Given the description of an element on the screen output the (x, y) to click on. 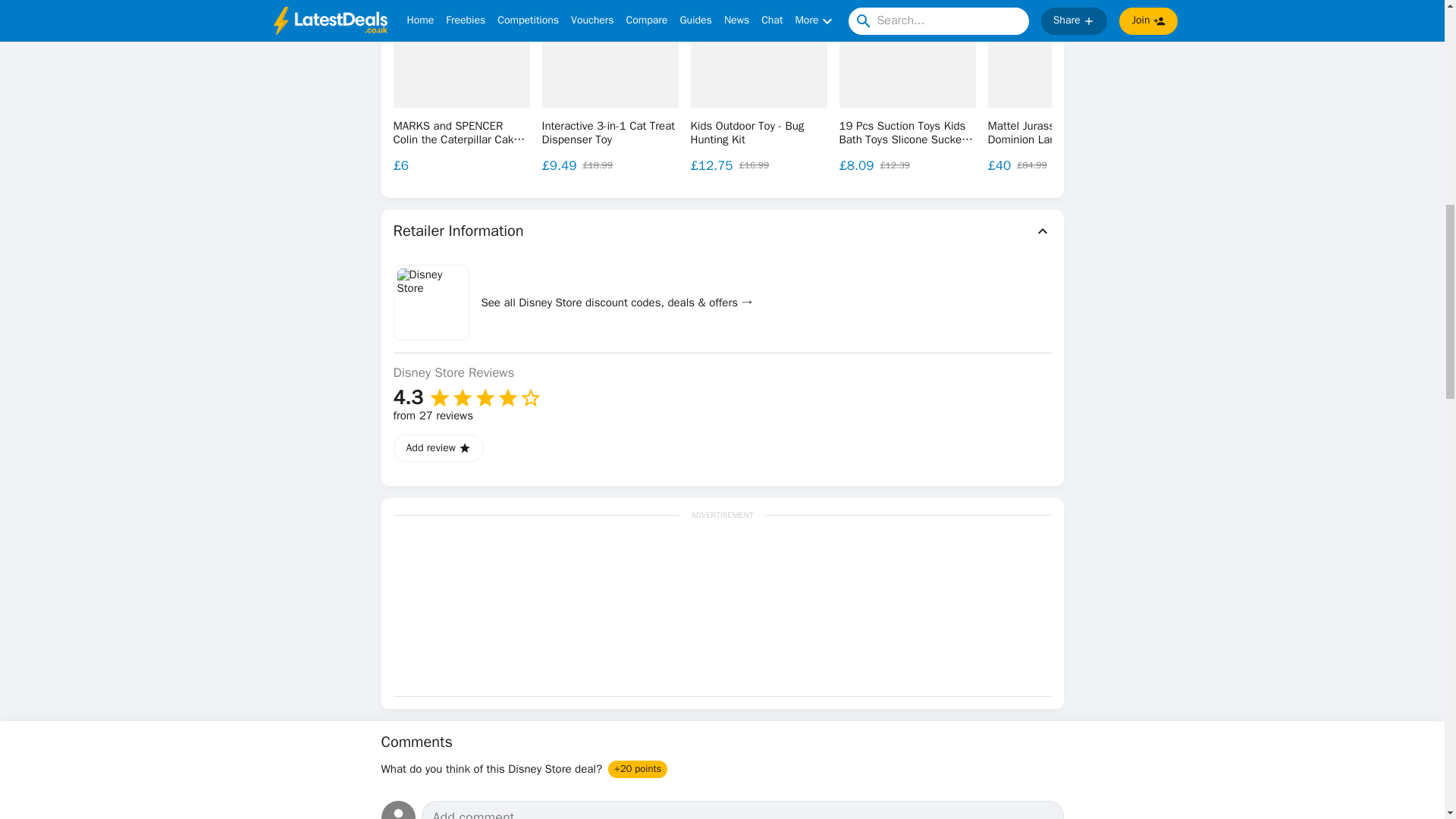
See more offers (1329, 72)
